Given the description of an element on the screen output the (x, y) to click on. 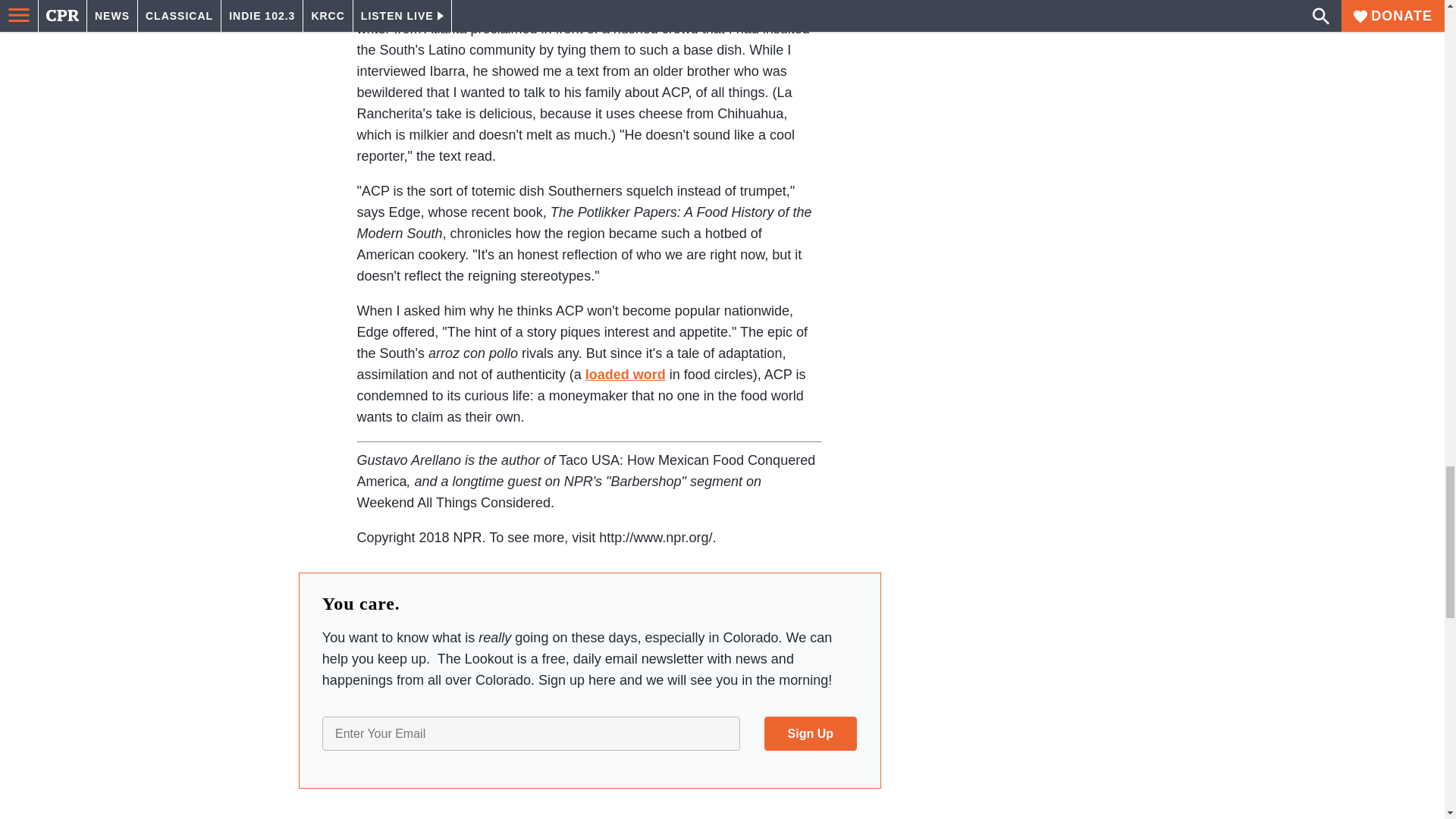
newsArticleSignup (589, 733)
